Given the description of an element on the screen output the (x, y) to click on. 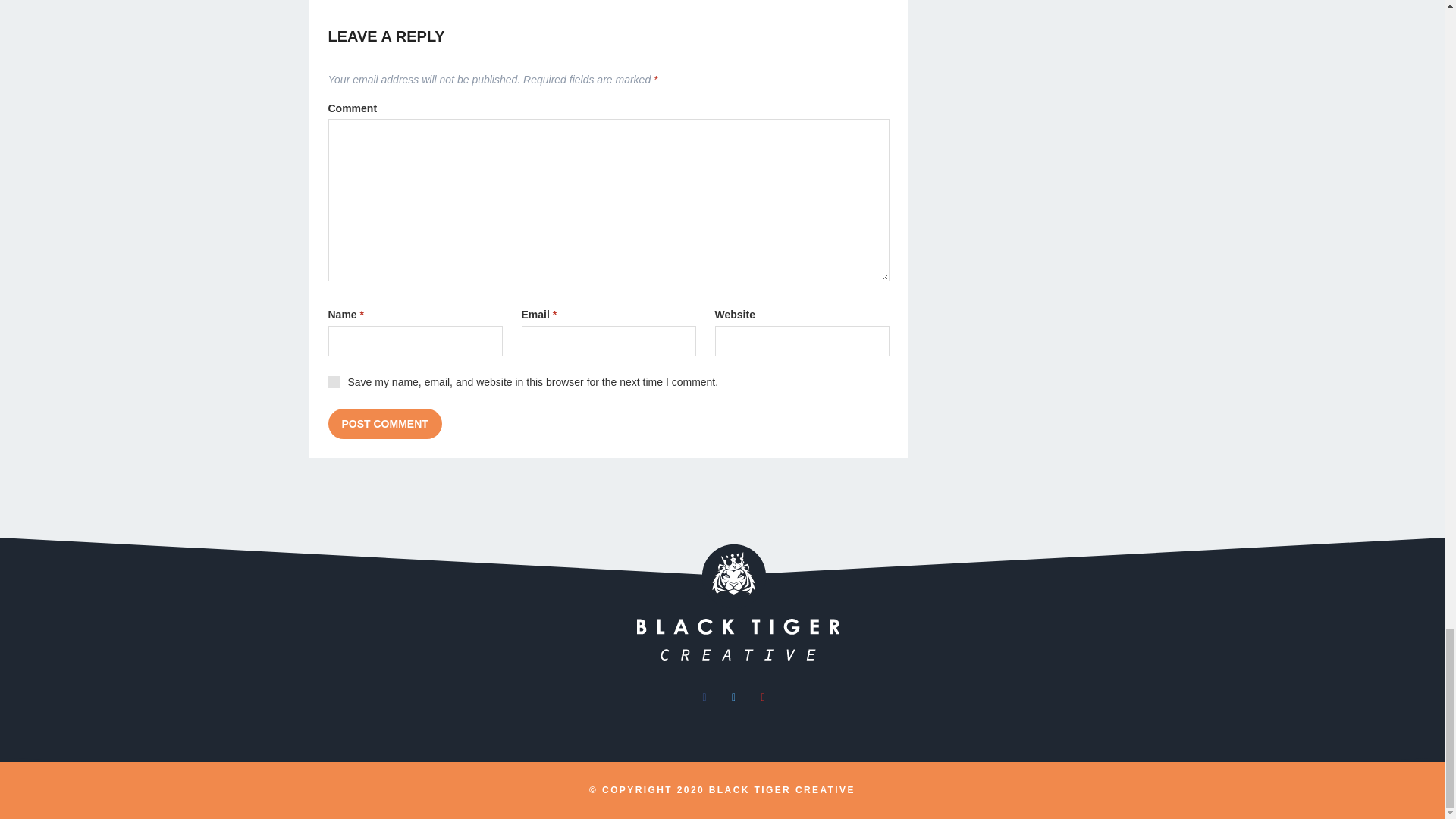
youtube-play (762, 696)
twitter (733, 696)
facebook (704, 696)
Post Comment (384, 423)
Post Comment (384, 423)
